Given the description of an element on the screen output the (x, y) to click on. 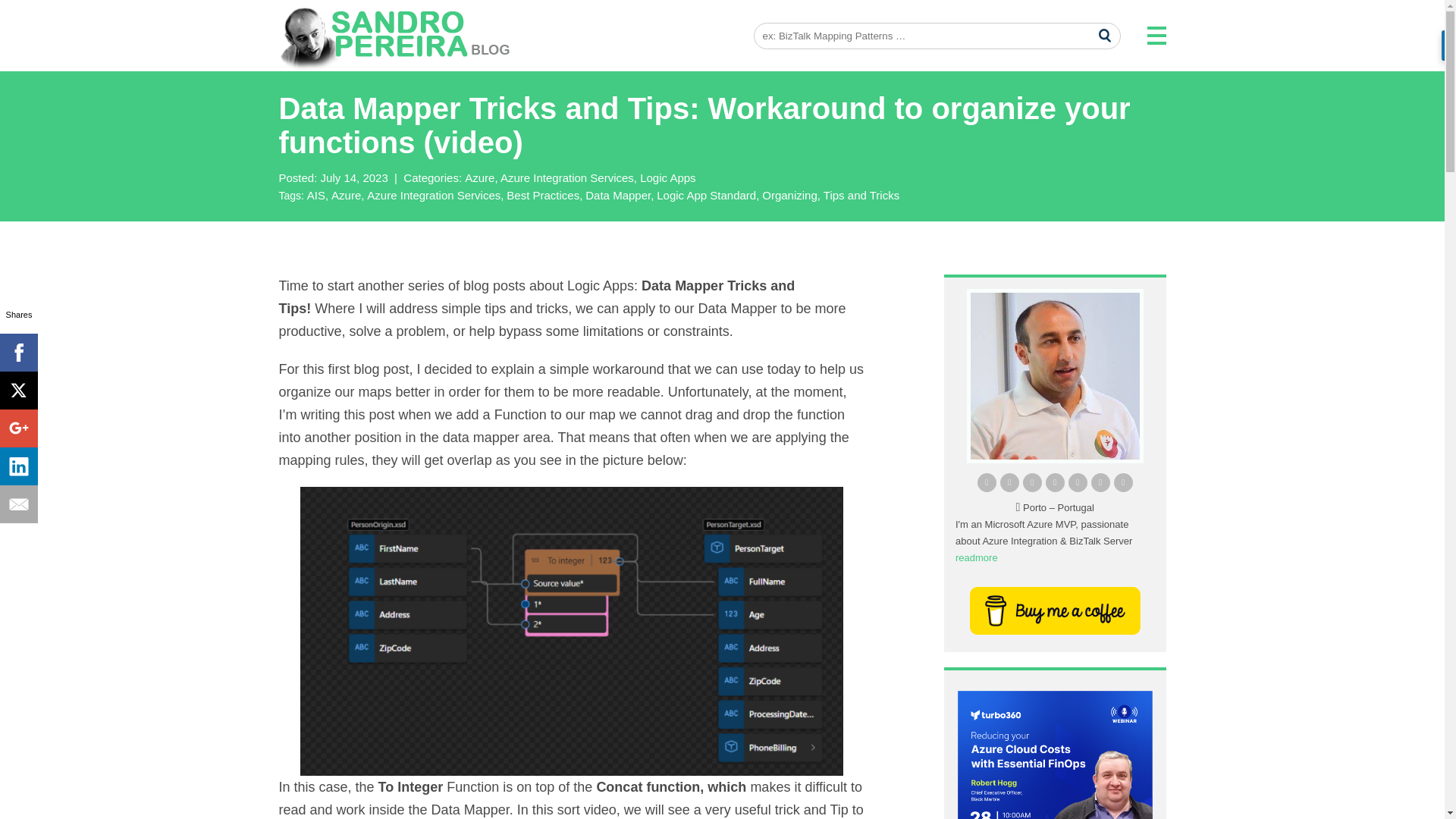
Email (18, 504)
Best Practices (544, 195)
Organizing (791, 195)
Facebook (18, 352)
Tips and Tricks (861, 195)
Search for: (937, 35)
X (18, 390)
Data Mapper (619, 195)
Azure (480, 177)
Logic Apps (667, 177)
Logic App Standard (707, 195)
AIS (318, 195)
readmore (976, 557)
Azure Integration Services (568, 177)
Azure (347, 195)
